Given the description of an element on the screen output the (x, y) to click on. 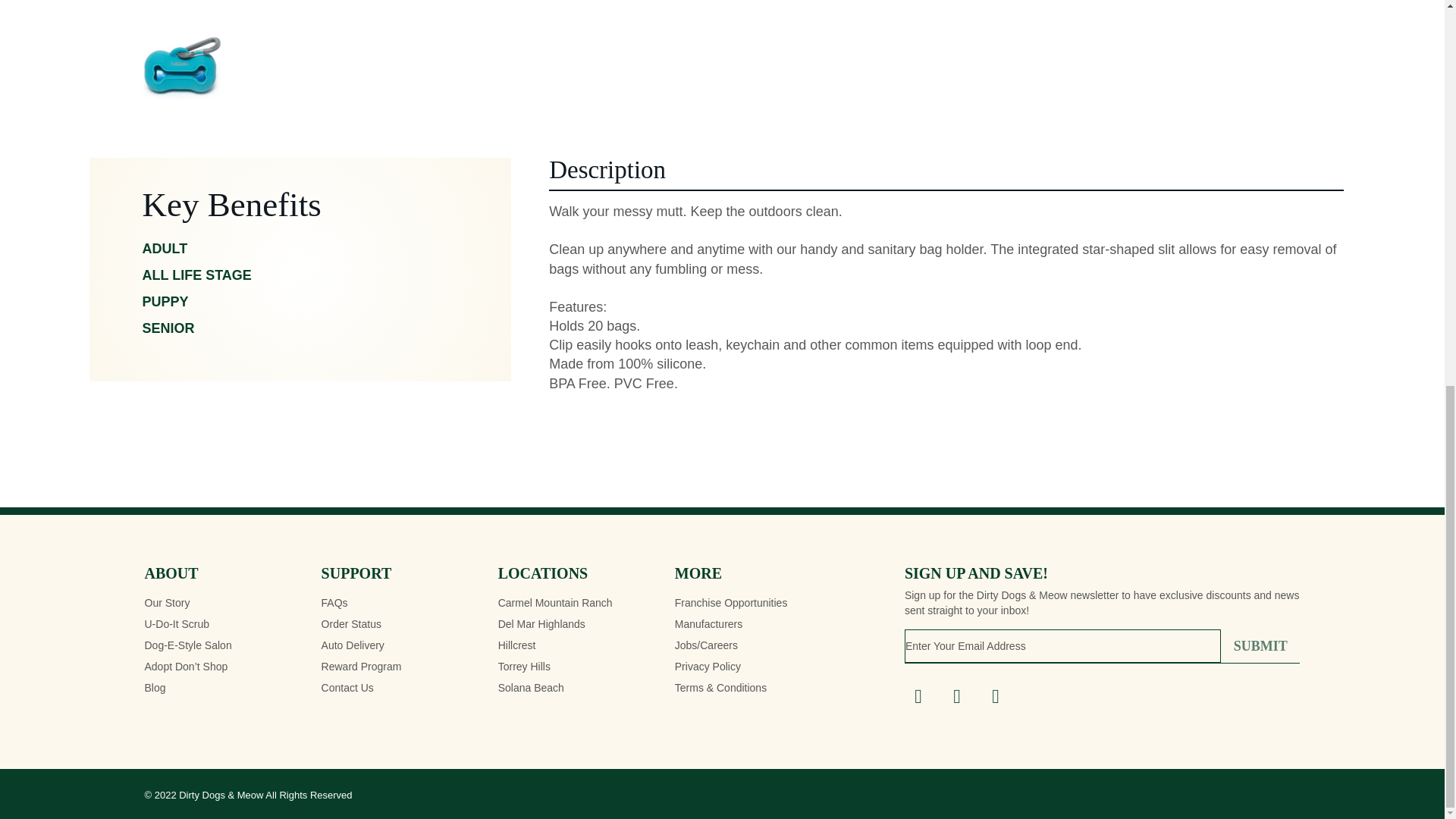
Submit (1260, 645)
Blog (154, 687)
Our Story (166, 602)
U-Do-It Scrub (176, 623)
Dog-E-Style Salon (187, 645)
